Given the description of an element on the screen output the (x, y) to click on. 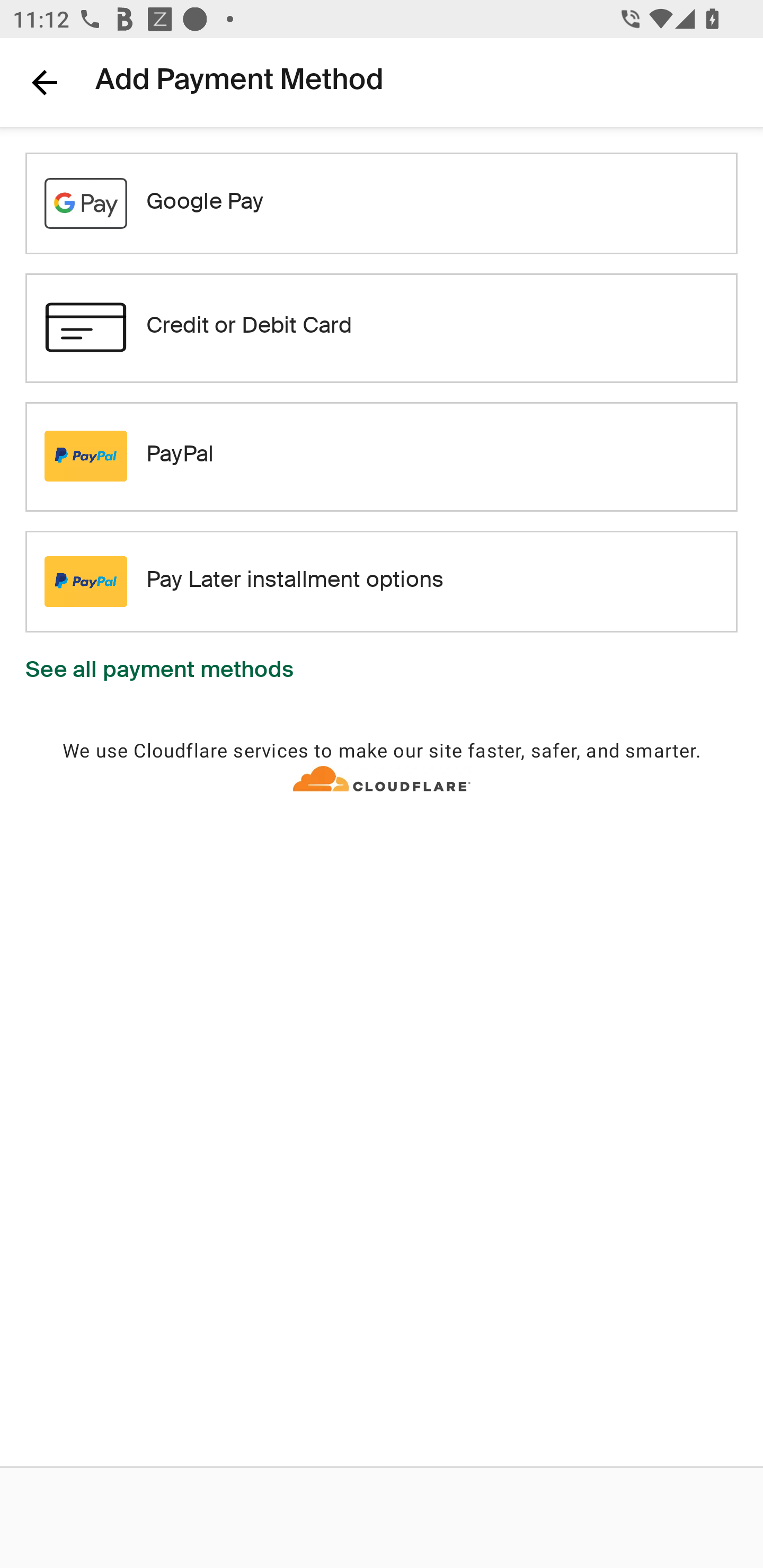
Navigate up (44, 82)
Google Pay (381, 203)
Credit or Debit Card (381, 327)
PayPal (381, 456)
Pay Later installment options (381, 581)
See all payment methods (159, 671)
